Given the description of an element on the screen output the (x, y) to click on. 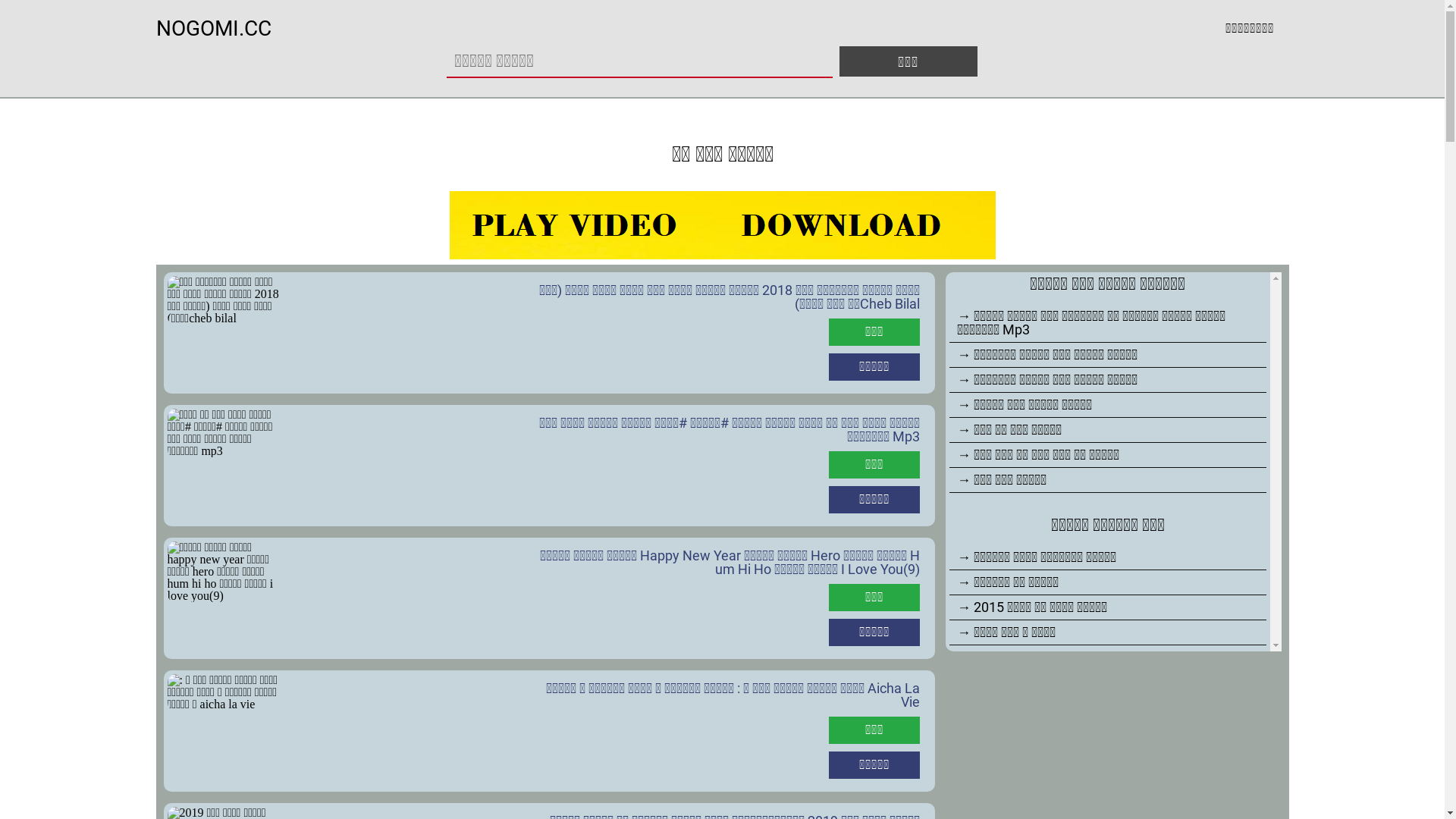
NOGOMI.CC Element type: text (213, 27)
